Given the description of an element on the screen output the (x, y) to click on. 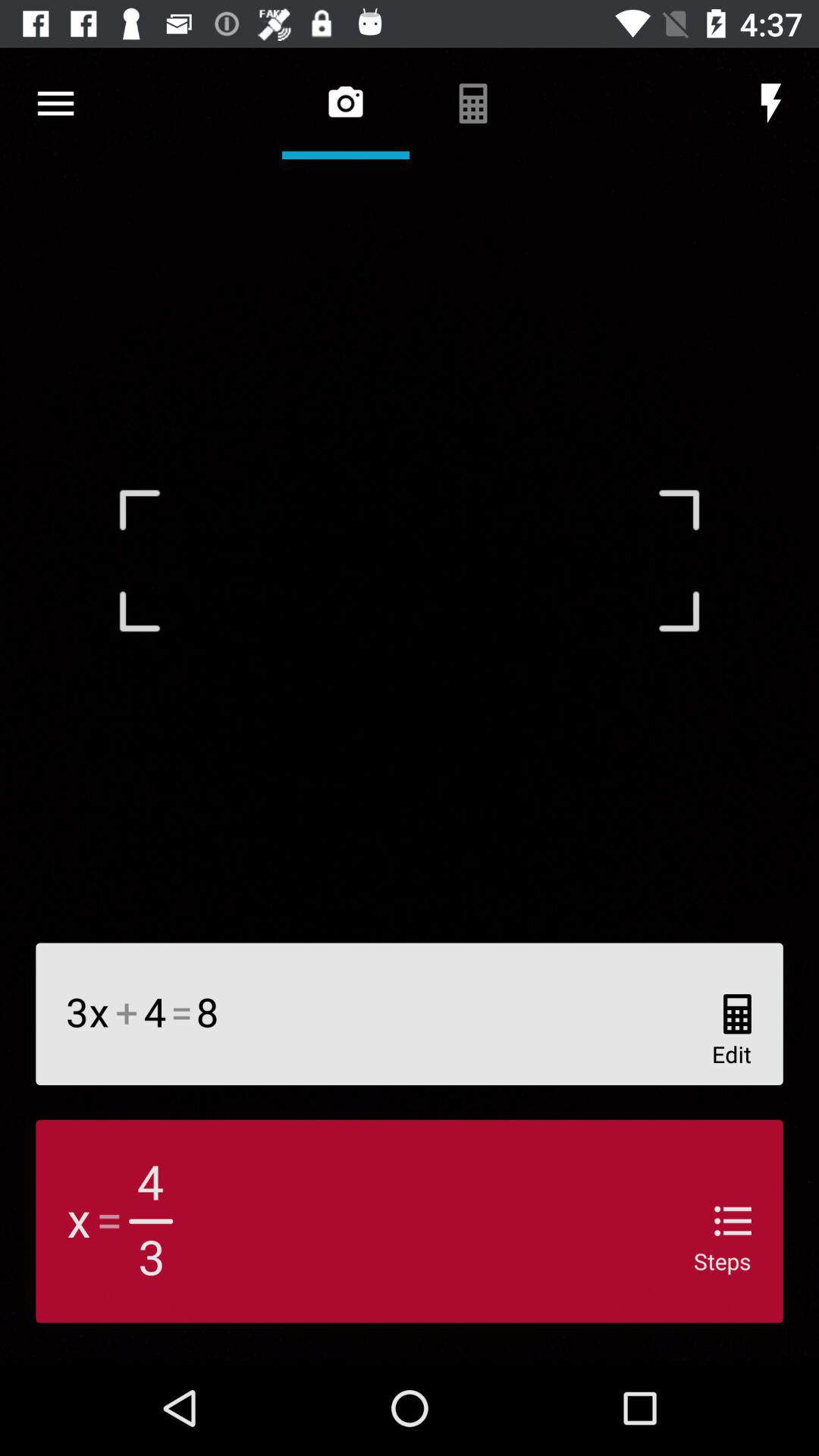
open more option window (55, 103)
